Given the description of an element on the screen output the (x, y) to click on. 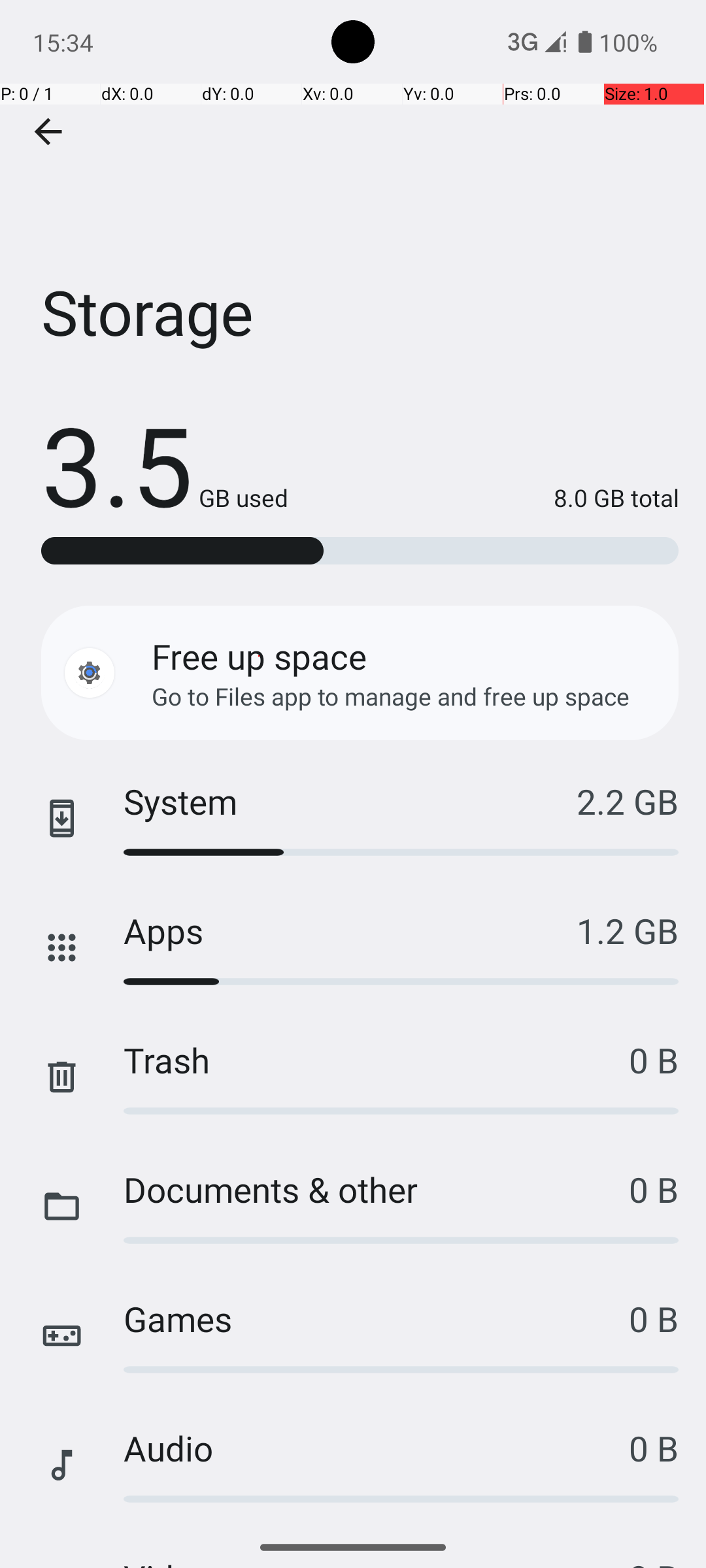
3.5 GB used Element type: android.widget.TextView (164, 463)
2.2 GB Element type: android.widget.TextView (627, 801)
1.2 GB Element type: android.widget.TextView (627, 930)
